Given the description of an element on the screen output the (x, y) to click on. 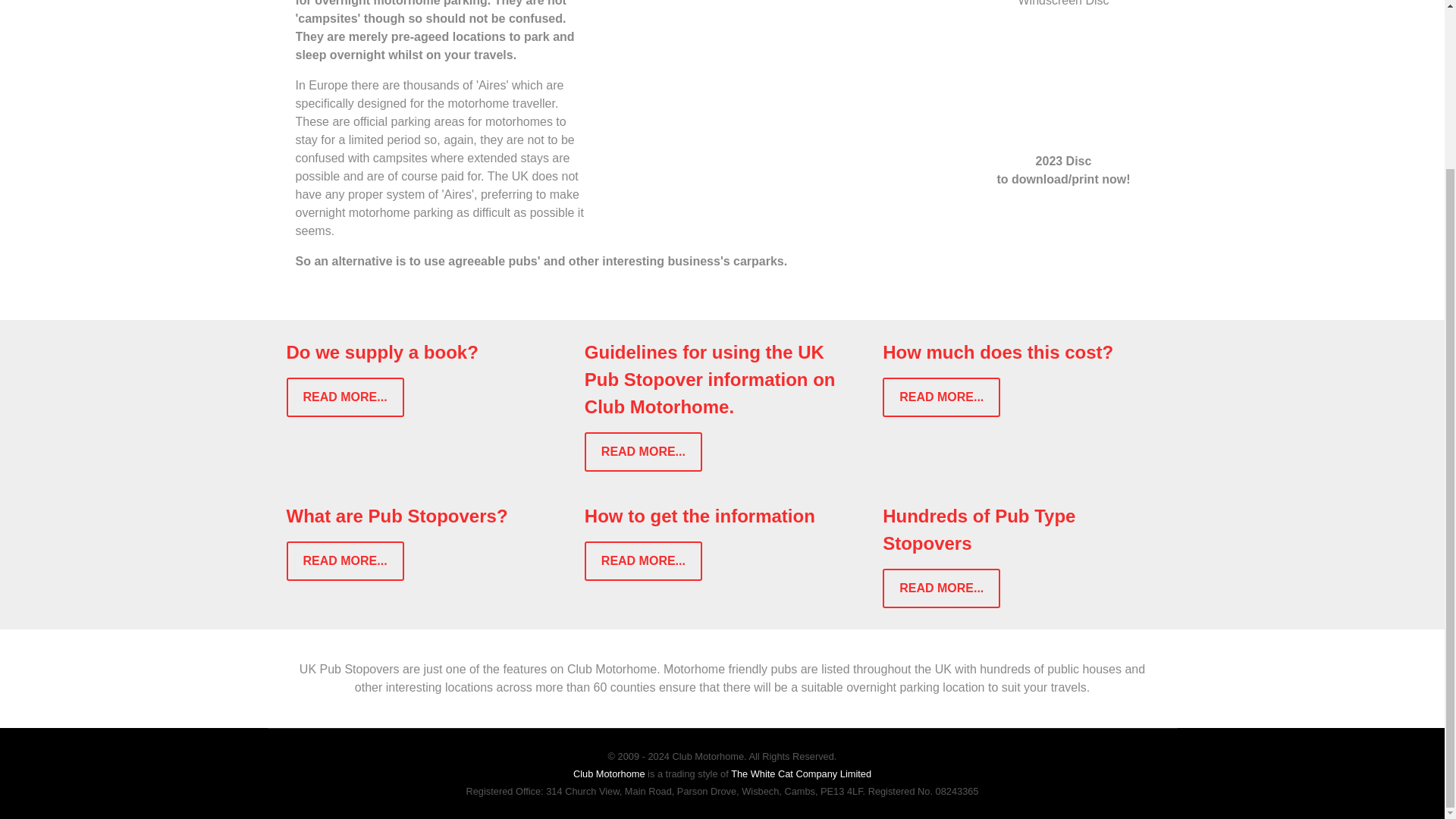
READ MORE... (345, 396)
Do we supply a book? (382, 352)
How to get the information (700, 516)
Hundreds of Pub Type Stopovers (978, 529)
READ MORE... (643, 451)
Club Motorhome (609, 773)
READ MORE... (643, 560)
READ MORE... (345, 560)
READ MORE... (941, 396)
READ MORE... (941, 588)
What are Pub Stopovers? (397, 516)
Club Motorhome Windscreen Disc (1063, 70)
The White Cat Company Limited (800, 773)
How much does this cost? (997, 352)
